Given the description of an element on the screen output the (x, y) to click on. 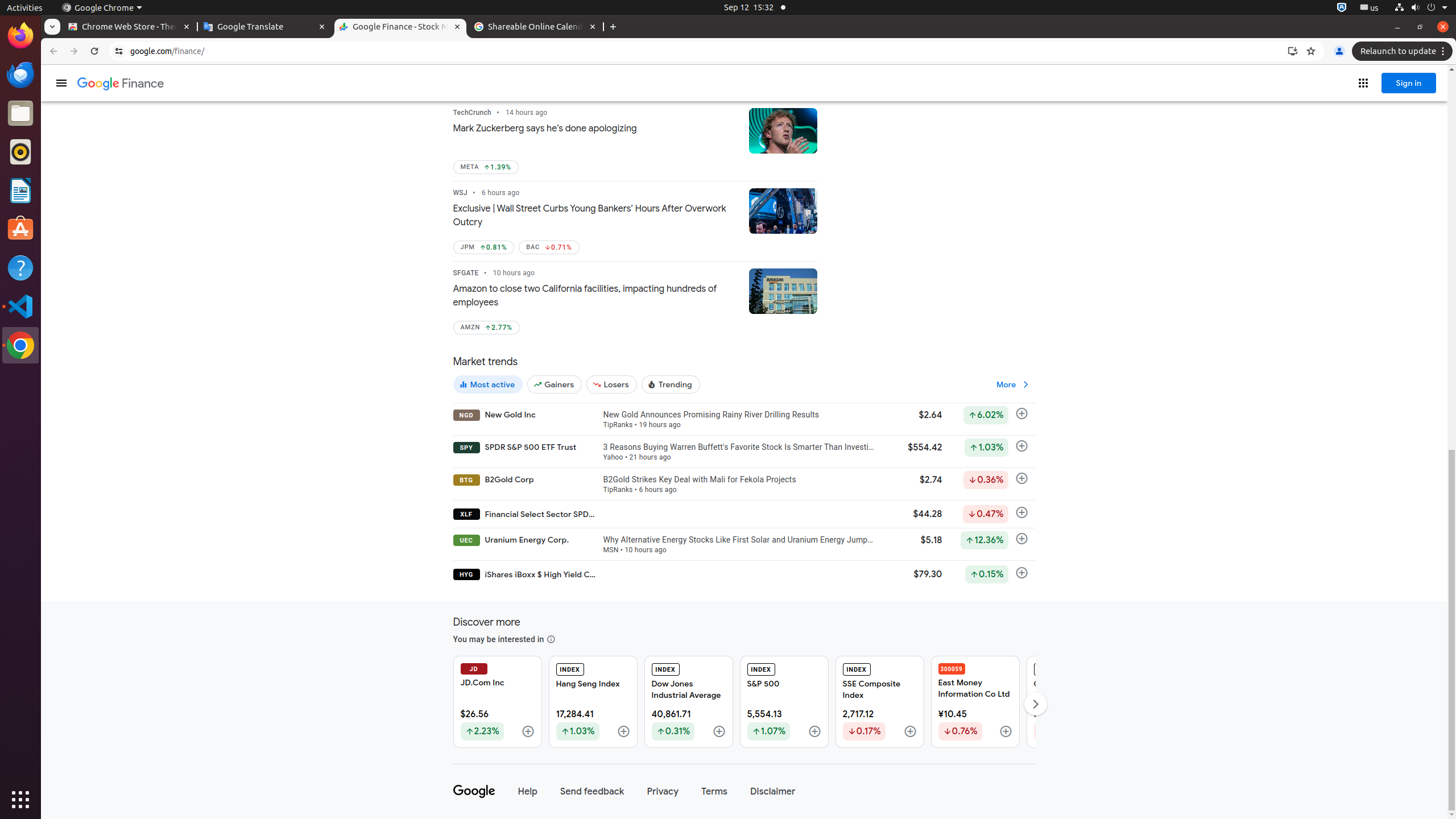
System Element type: menu (1420, 7)
INDEX Hang Seng Index 17,284.41 Up by 1.03% Element type: link (592, 701)
Relaunch to update Element type: push-button (1403, 50)
BAC Down by 0.71% Element type: link (548, 247)
Sign in Element type: link (1408, 82)
